Given the description of an element on the screen output the (x, y) to click on. 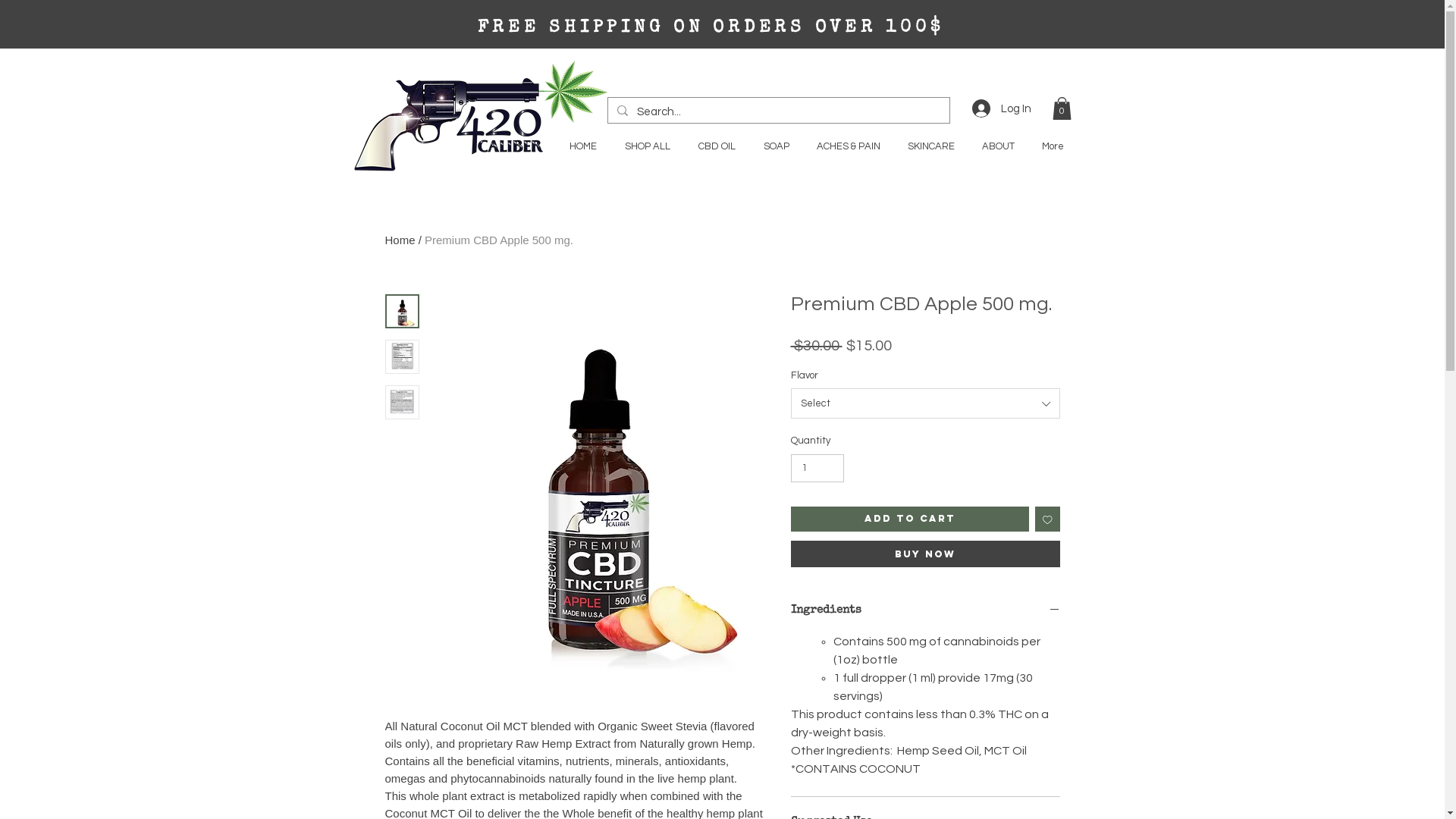
HOME Element type: text (582, 146)
0 Element type: text (1061, 108)
Ingredients Element type: text (924, 611)
Premium CBD Apple 500 mg. Element type: text (498, 239)
CBD OIL Element type: text (716, 146)
Add to Cart Element type: text (909, 518)
Buy Now Element type: text (924, 553)
ACHES & PAIN Element type: text (847, 146)
SKINCARE Element type: text (930, 146)
SOAP Element type: text (775, 146)
SHOP ALL Element type: text (647, 146)
Select Element type: text (924, 403)
Log In Element type: text (1001, 108)
Home Element type: text (400, 239)
ABOUT Element type: text (997, 146)
